Given the description of an element on the screen output the (x, y) to click on. 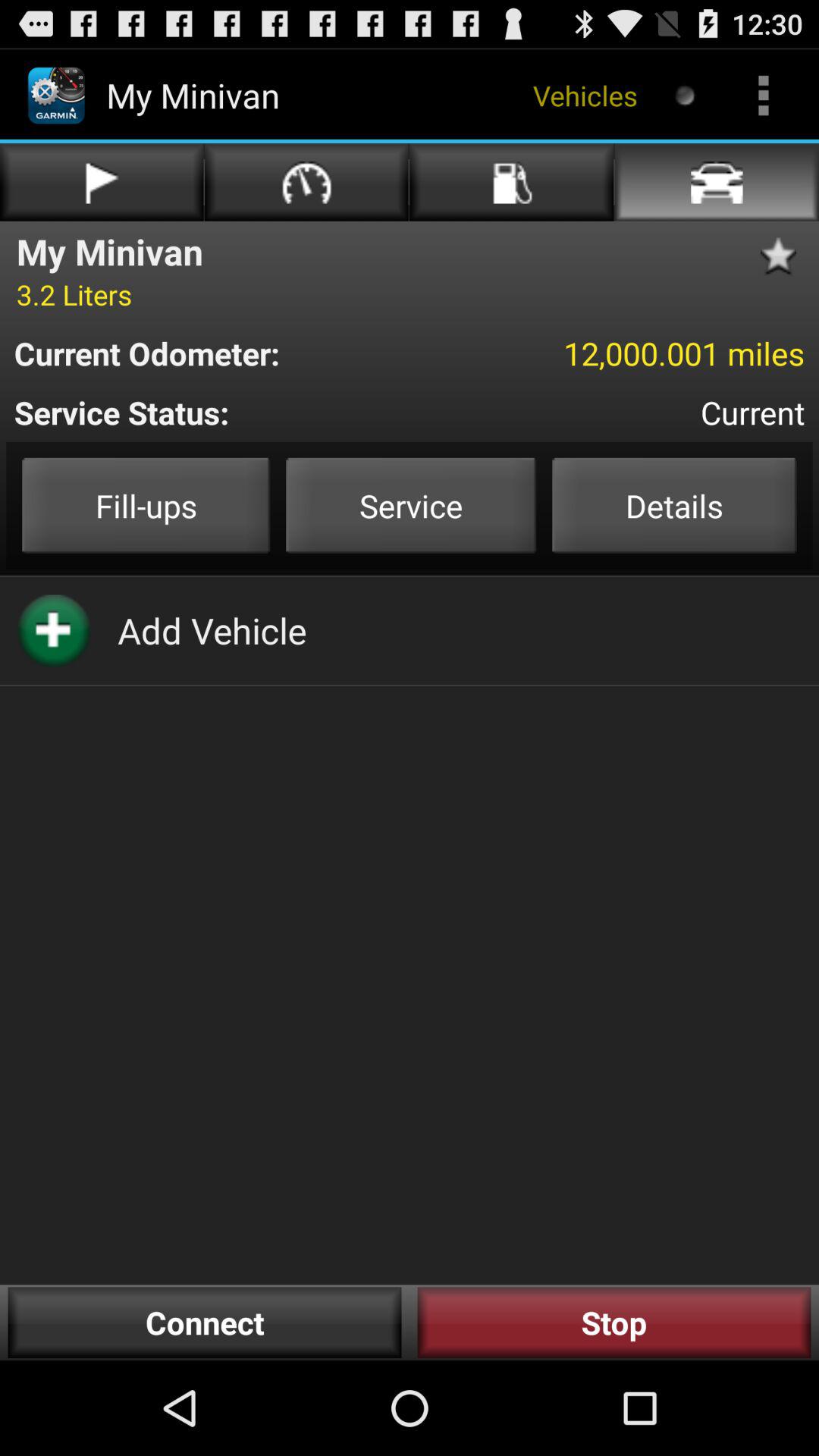
tap details item (674, 505)
